Given the description of an element on the screen output the (x, y) to click on. 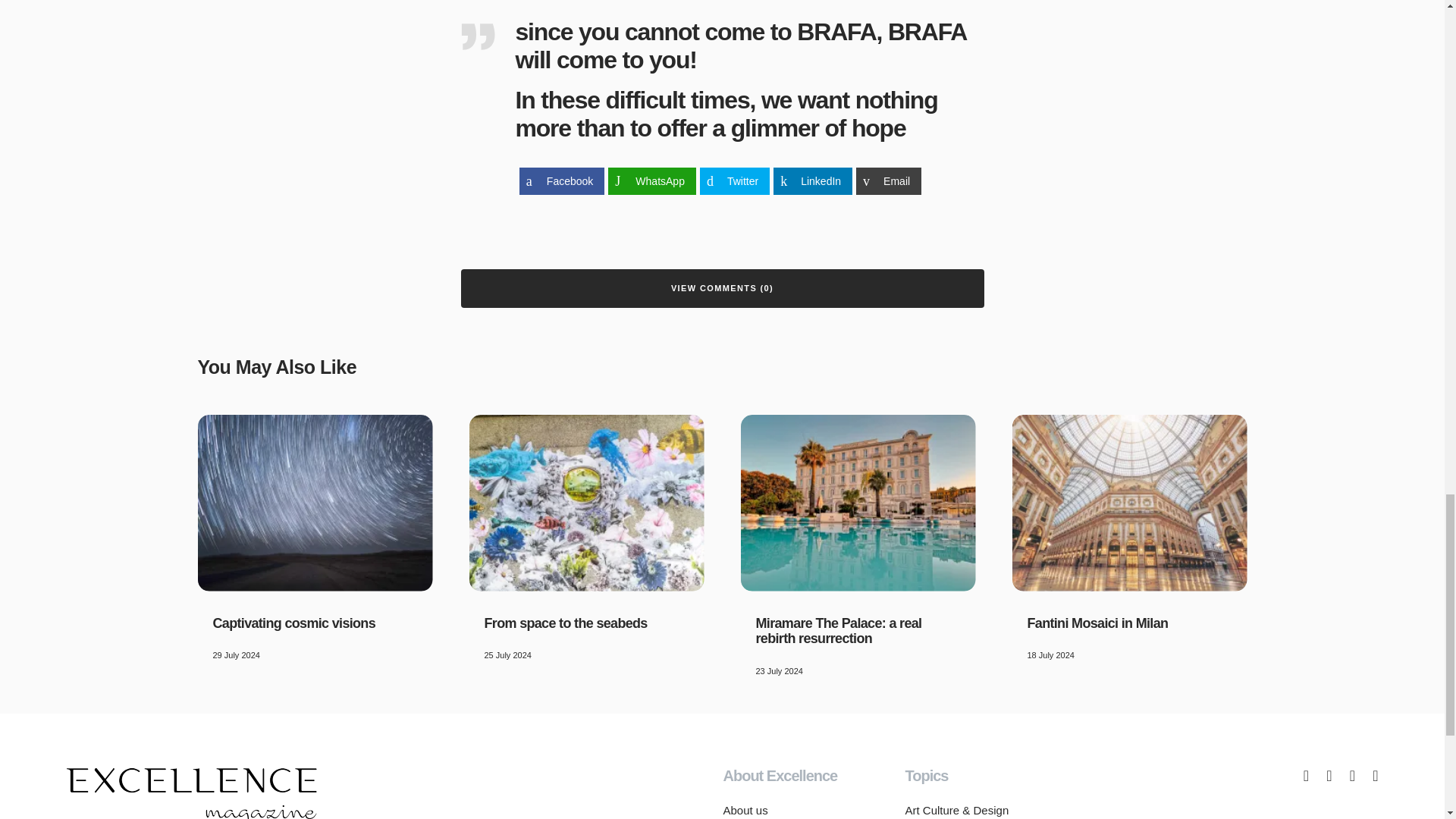
Share on WhatsApp (651, 180)
Share on Facebook (561, 180)
Share on LinkedIn (812, 180)
Share on Email (888, 180)
Share on Twitter (735, 180)
